Given the description of an element on the screen output the (x, y) to click on. 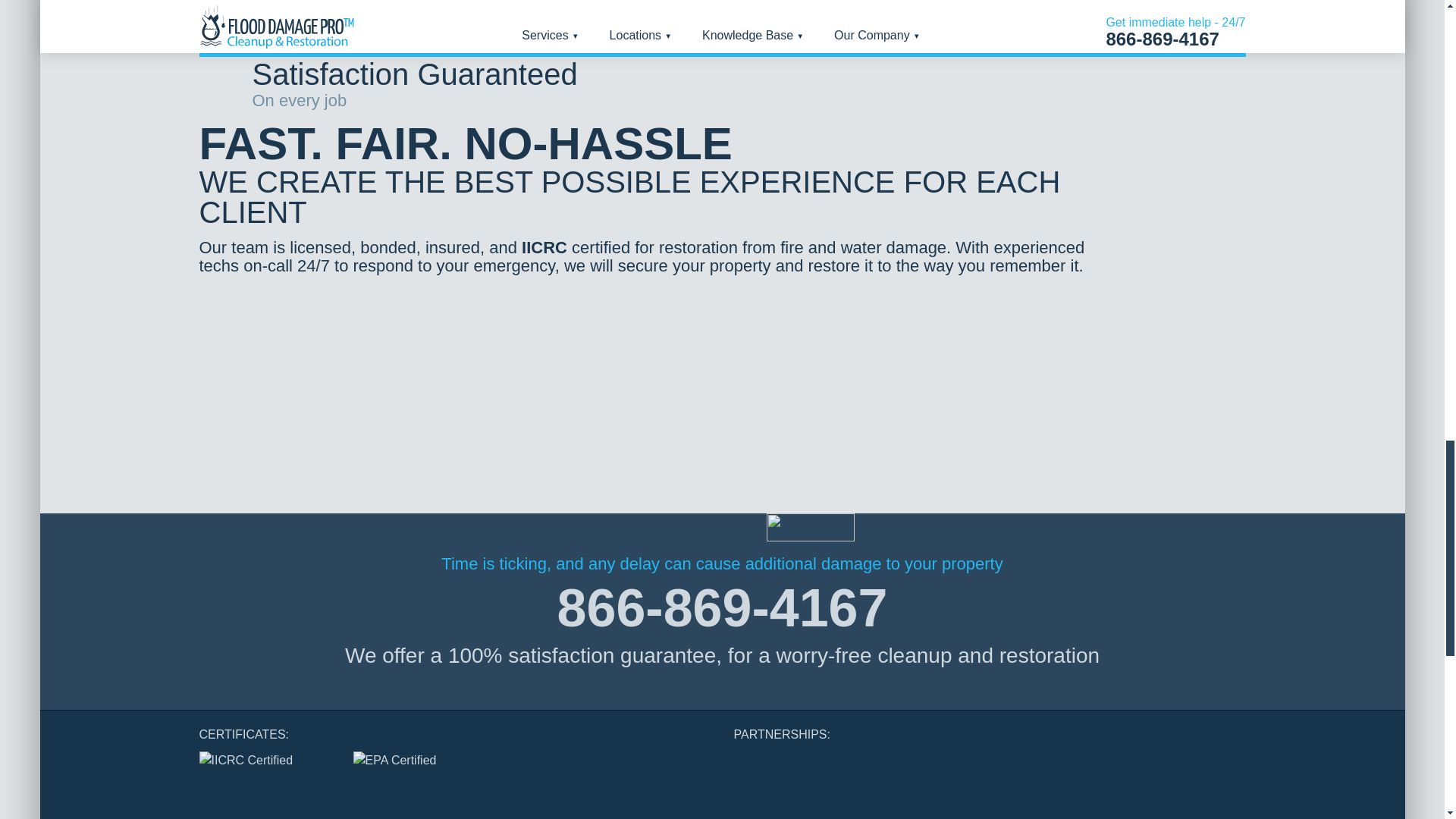
EPA Certified (408, 770)
866-869-4167 (722, 608)
IICRC Certified (264, 770)
